Given the description of an element on the screen output the (x, y) to click on. 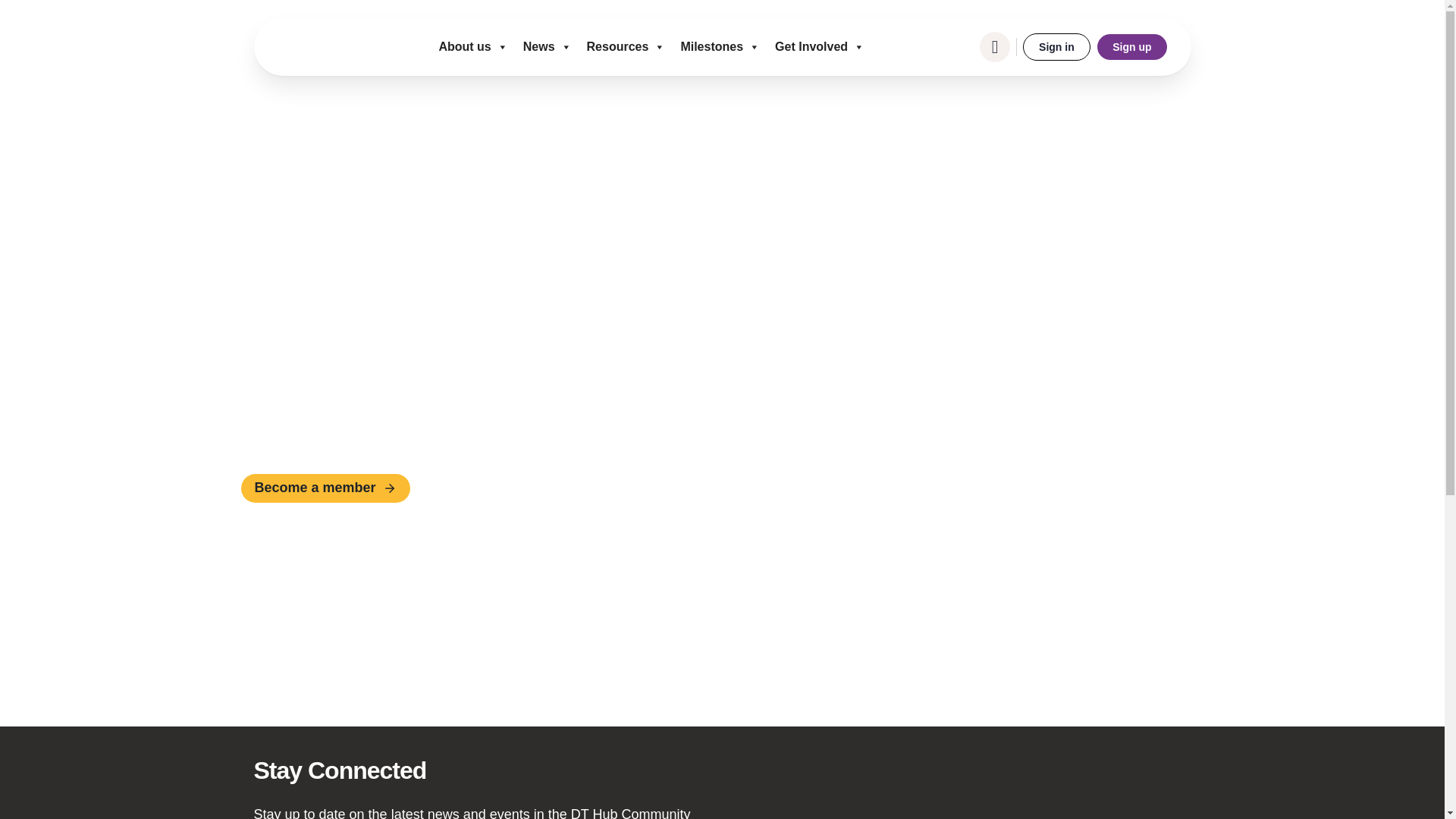
About us (472, 47)
Milestones (719, 47)
Resources (625, 47)
News (547, 47)
